Given the description of an element on the screen output the (x, y) to click on. 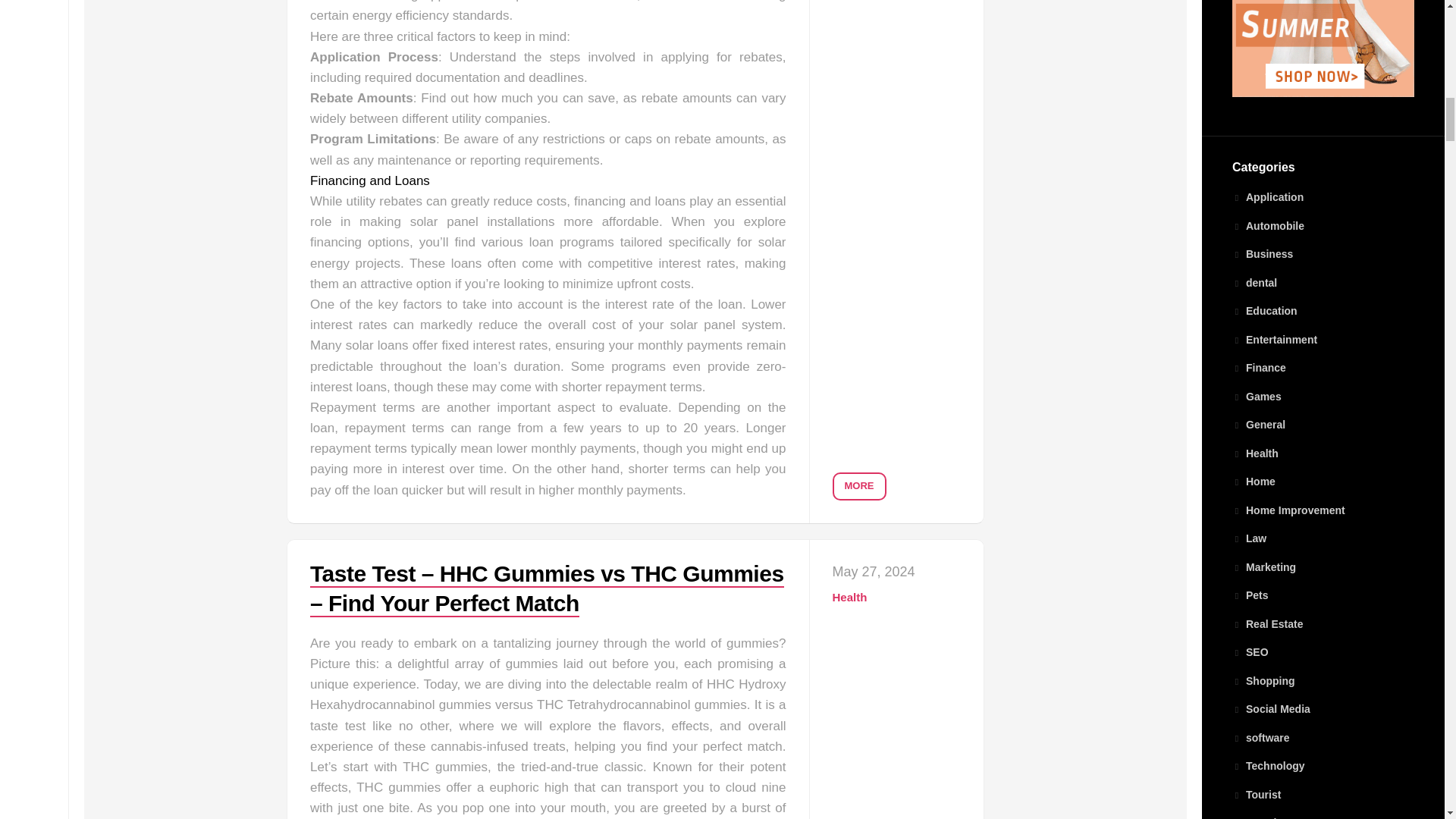
dental (1253, 282)
Entertainment (1274, 339)
Education (1264, 310)
Automobile (1267, 225)
Business (1261, 254)
Application (1267, 196)
Finance (1258, 367)
